Given the description of an element on the screen output the (x, y) to click on. 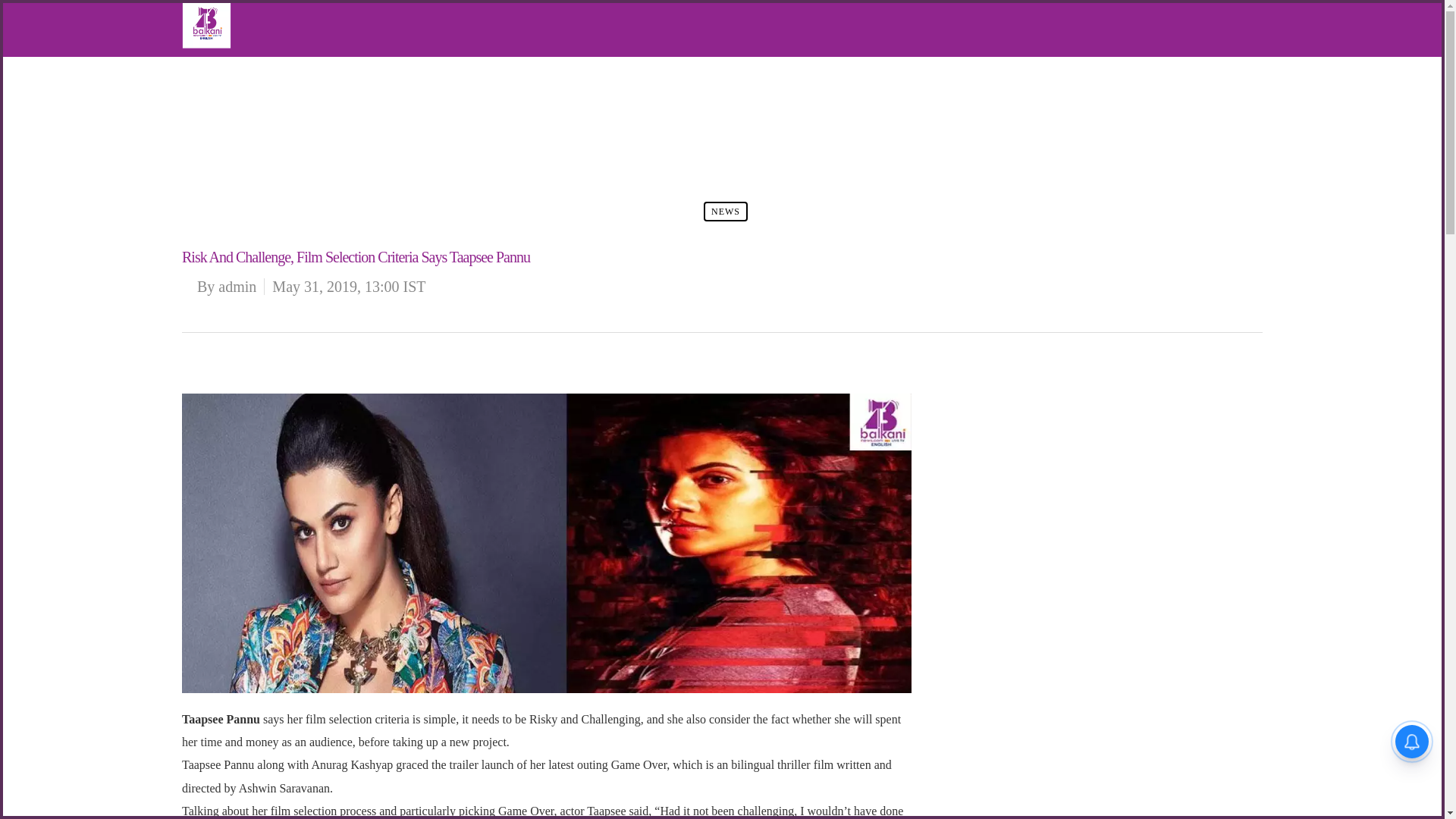
FROM-BALKANI (253, 114)
LANGUAGE (242, 159)
NEWS (725, 211)
LIFESTYLE (241, 136)
HOME (229, 68)
SEARCH (234, 182)
NEWS (229, 91)
